Given the description of an element on the screen output the (x, y) to click on. 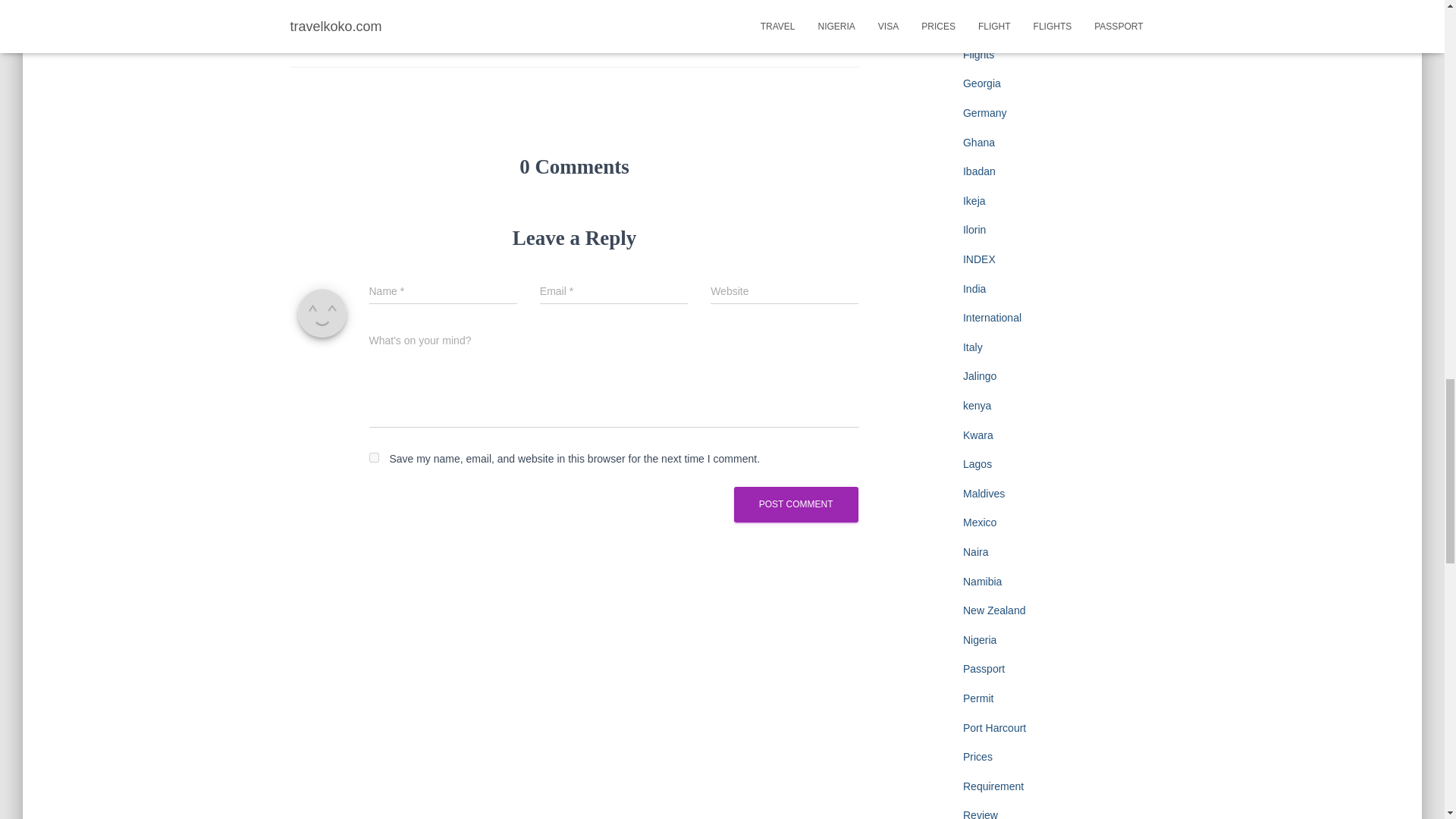
NIGERIA (490, 12)
FLIGHTS (377, 12)
Post Comment (796, 504)
INDEX (435, 12)
TRAVEL (376, 38)
PRICES (318, 38)
yes (373, 457)
Post Comment (796, 504)
